Given the description of an element on the screen output the (x, y) to click on. 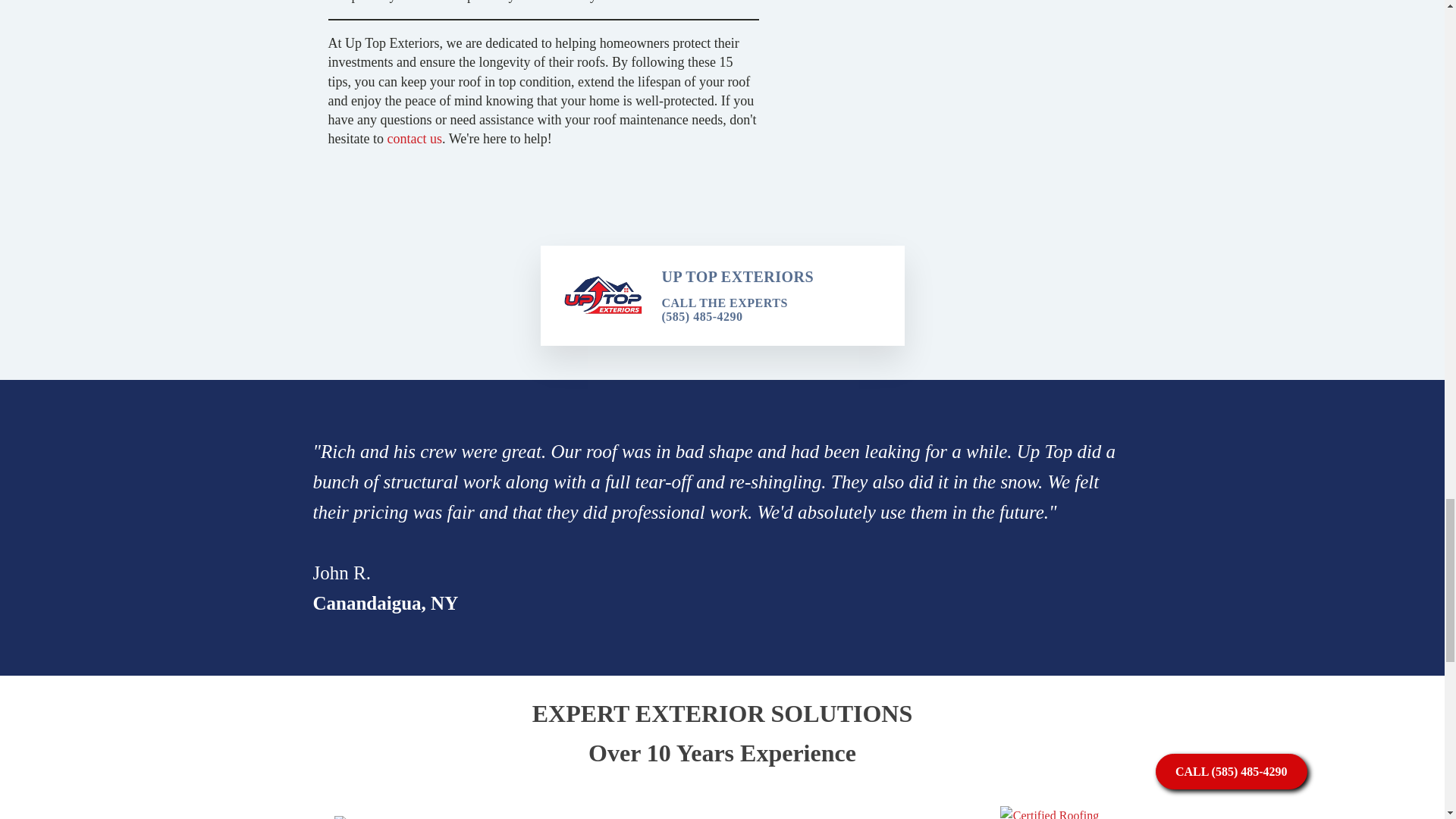
contact us (414, 138)
